Given the description of an element on the screen output the (x, y) to click on. 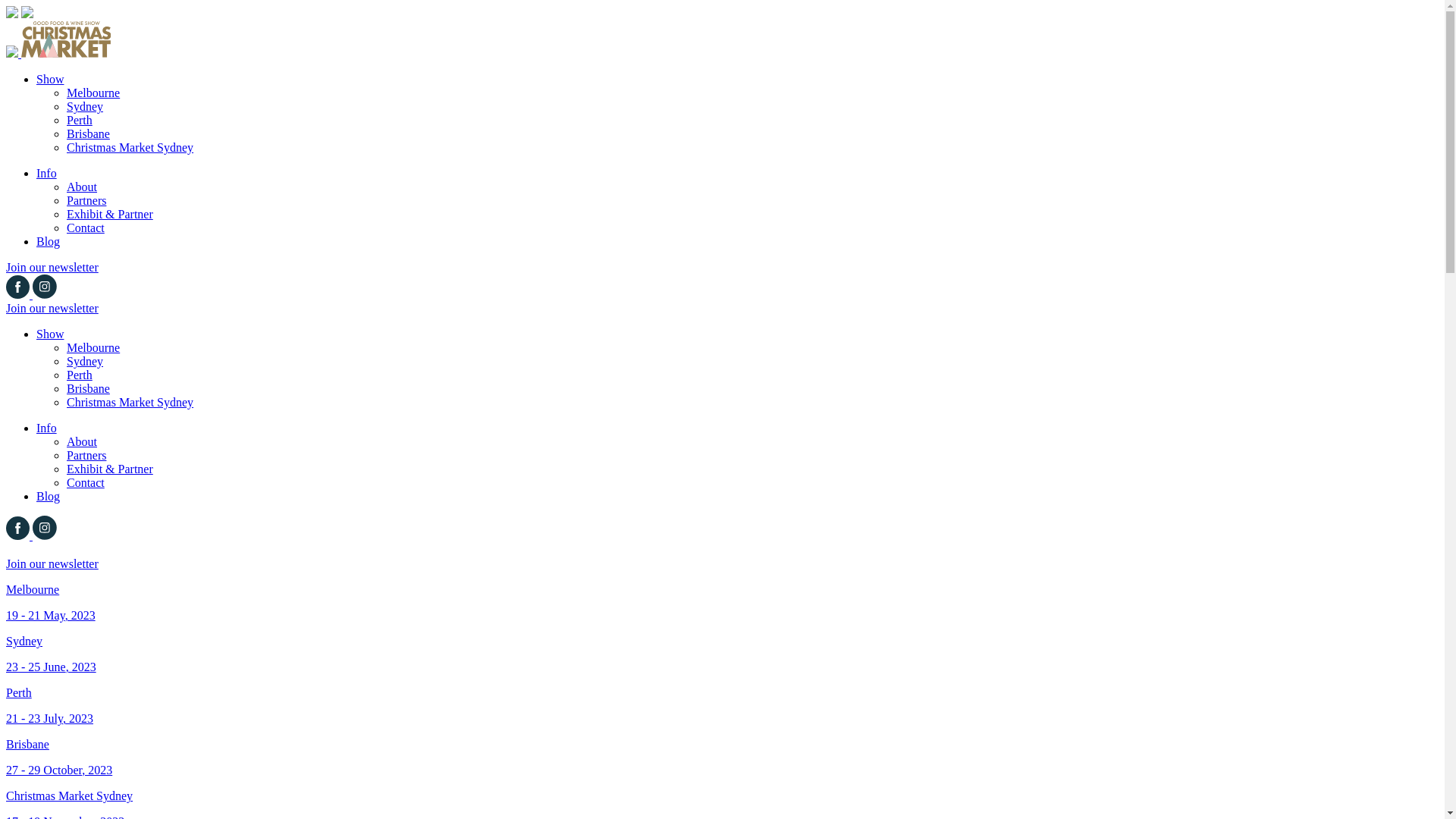
Info Element type: text (46, 427)
Exhibit & Partner Element type: text (109, 468)
Join our newsletter Element type: text (52, 563)
About Element type: text (81, 441)
Perth Element type: text (79, 374)
Melbourne
19 - 21 May, 2023 Element type: text (722, 602)
Brisbane Element type: text (87, 388)
Melbourne Element type: text (92, 92)
Perth
21 - 23 July, 2023 Element type: text (722, 705)
Sydney Element type: text (84, 360)
Perth Element type: text (79, 119)
Partners Element type: text (86, 200)
Brisbane Element type: text (87, 133)
Sydney Element type: text (84, 106)
Show Element type: text (49, 78)
Join our newsletter Element type: text (52, 266)
About Element type: text (81, 186)
Sydney
23 - 25 June, 2023 Element type: text (722, 654)
Show Element type: text (49, 333)
Exhibit & Partner Element type: text (109, 213)
Contact Element type: text (85, 227)
Melbourne Element type: text (92, 347)
Join our newsletter Element type: text (52, 307)
Christmas Market Sydney Element type: text (129, 147)
Brisbane
27 - 29 October, 2023 Element type: text (722, 757)
Christmas Market Sydney Element type: text (129, 401)
Blog Element type: text (47, 495)
Contact Element type: text (85, 482)
Info Element type: text (46, 172)
Blog Element type: text (47, 241)
Partners Element type: text (86, 454)
